Given the description of an element on the screen output the (x, y) to click on. 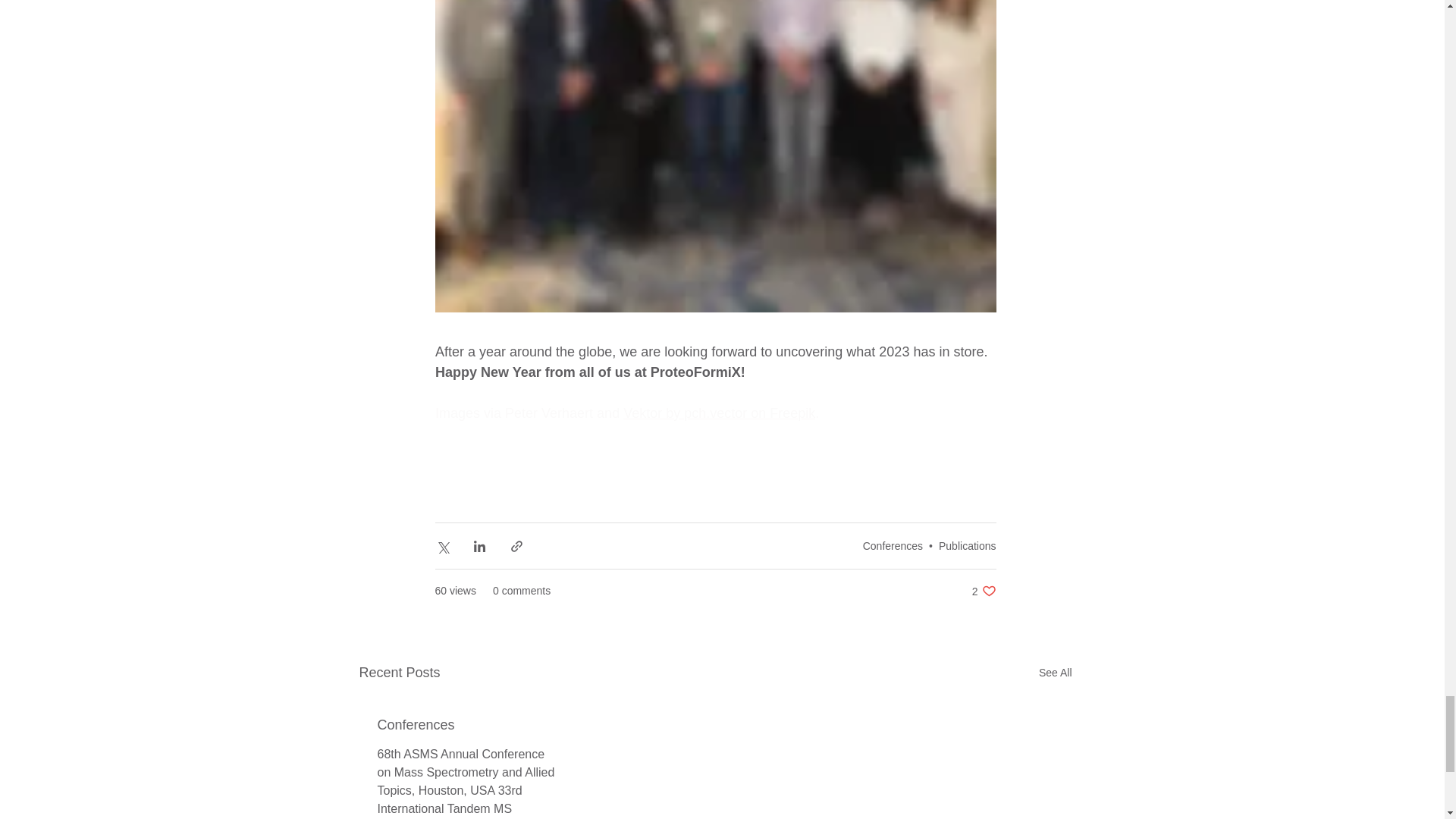
Conferences (893, 545)
See All (1055, 672)
Conferences (468, 725)
Publications (967, 545)
Vektor by pch.vector on Freepik (719, 412)
